Given the description of an element on the screen output the (x, y) to click on. 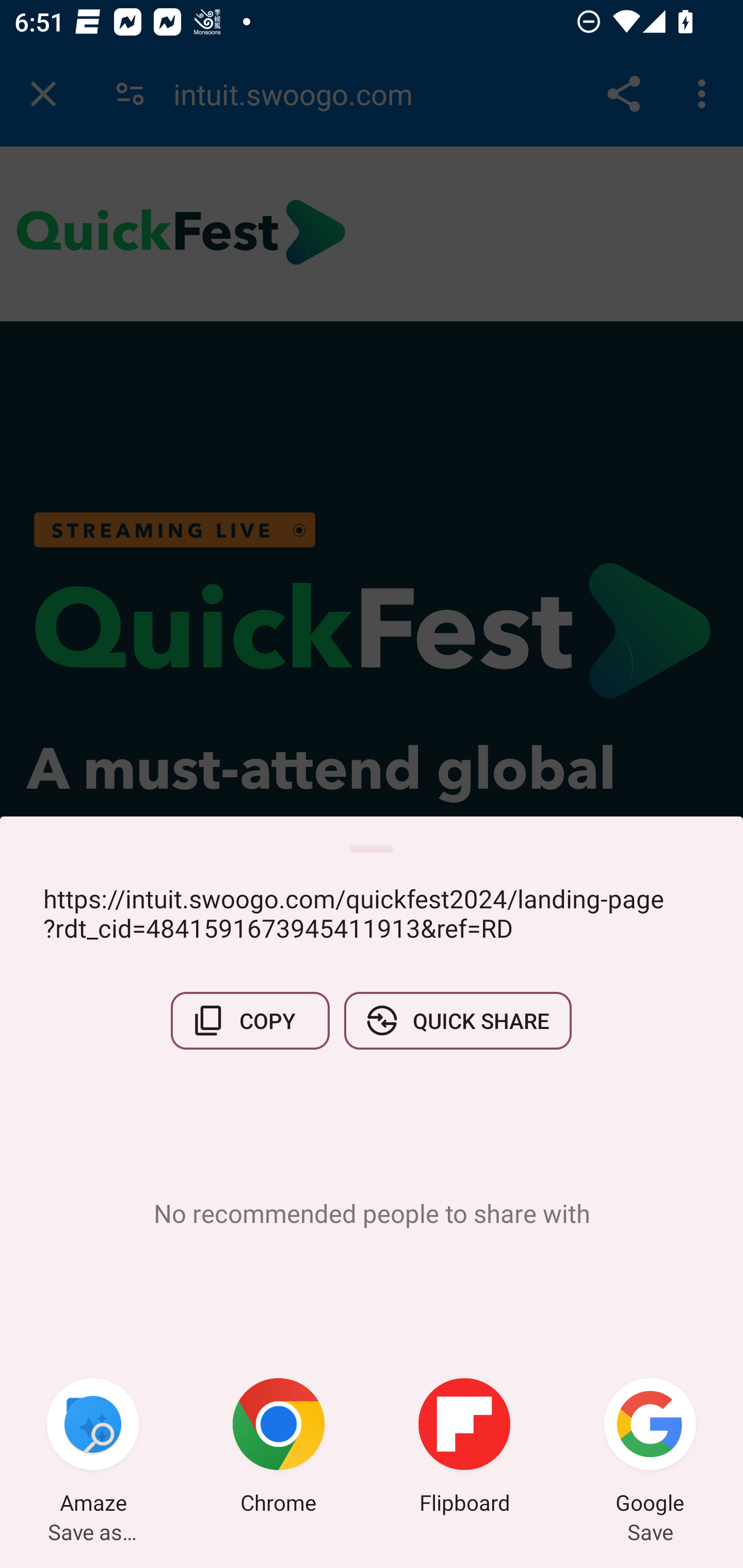
COPY (249, 1020)
QUICK SHARE (457, 1020)
Amaze Save as… (92, 1448)
Chrome (278, 1448)
Flipboard (464, 1448)
Google Save (650, 1448)
